Given the description of an element on the screen output the (x, y) to click on. 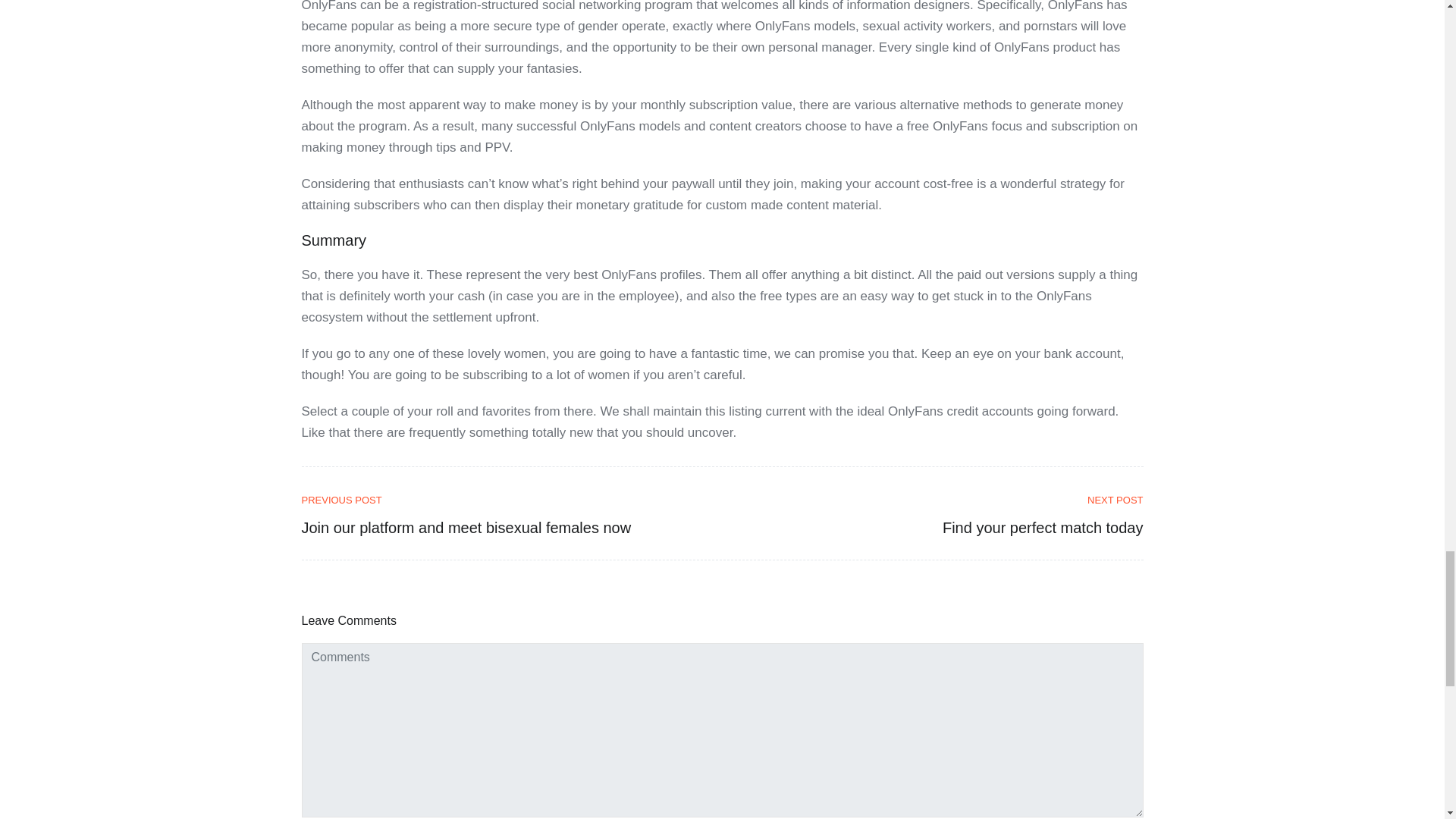
PREVIOUS POST (506, 500)
Join our platform and meet bisexual females now (466, 527)
NEXT POST (937, 500)
Find your perfect match today (1042, 527)
Join our platform and meet bisexual females now (506, 500)
